Given the description of an element on the screen output the (x, y) to click on. 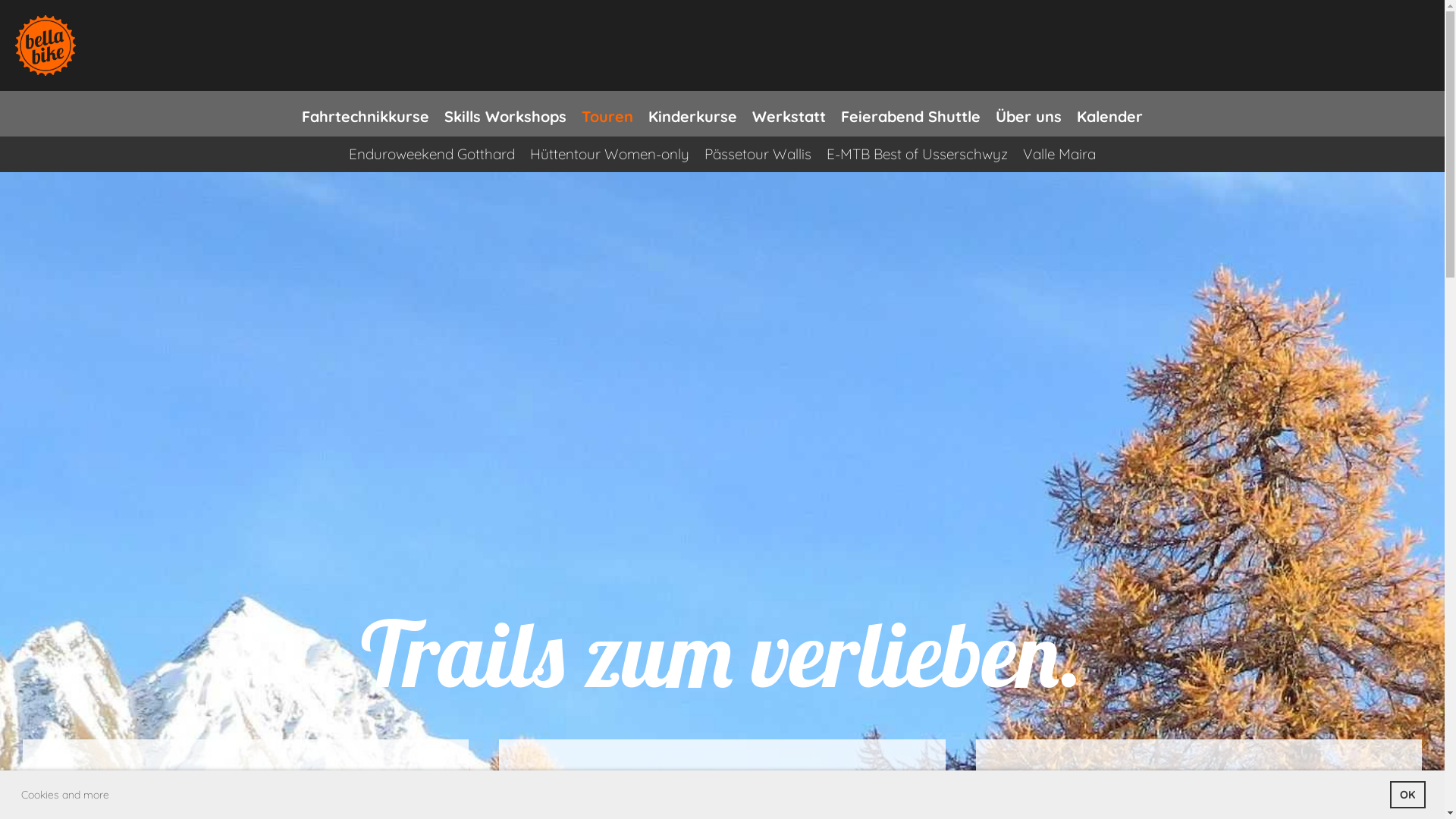
Skills Workshops Element type: text (505, 113)
Werkstatt Element type: text (788, 113)
E-MTB Best of Usserschwyz Element type: text (917, 154)
Cookies and more Element type: text (64, 794)
OK Element type: text (1407, 794)
Valle Maira Element type: text (1059, 154)
Kinderkurse Element type: text (692, 113)
Kalender Element type: text (1109, 113)
Touren Element type: text (607, 113)
Fahrtechnikkurse Element type: text (365, 113)
Enduroweekend Gotthard Element type: text (431, 154)
Feierabend Shuttle Element type: text (910, 113)
